Given the description of an element on the screen output the (x, y) to click on. 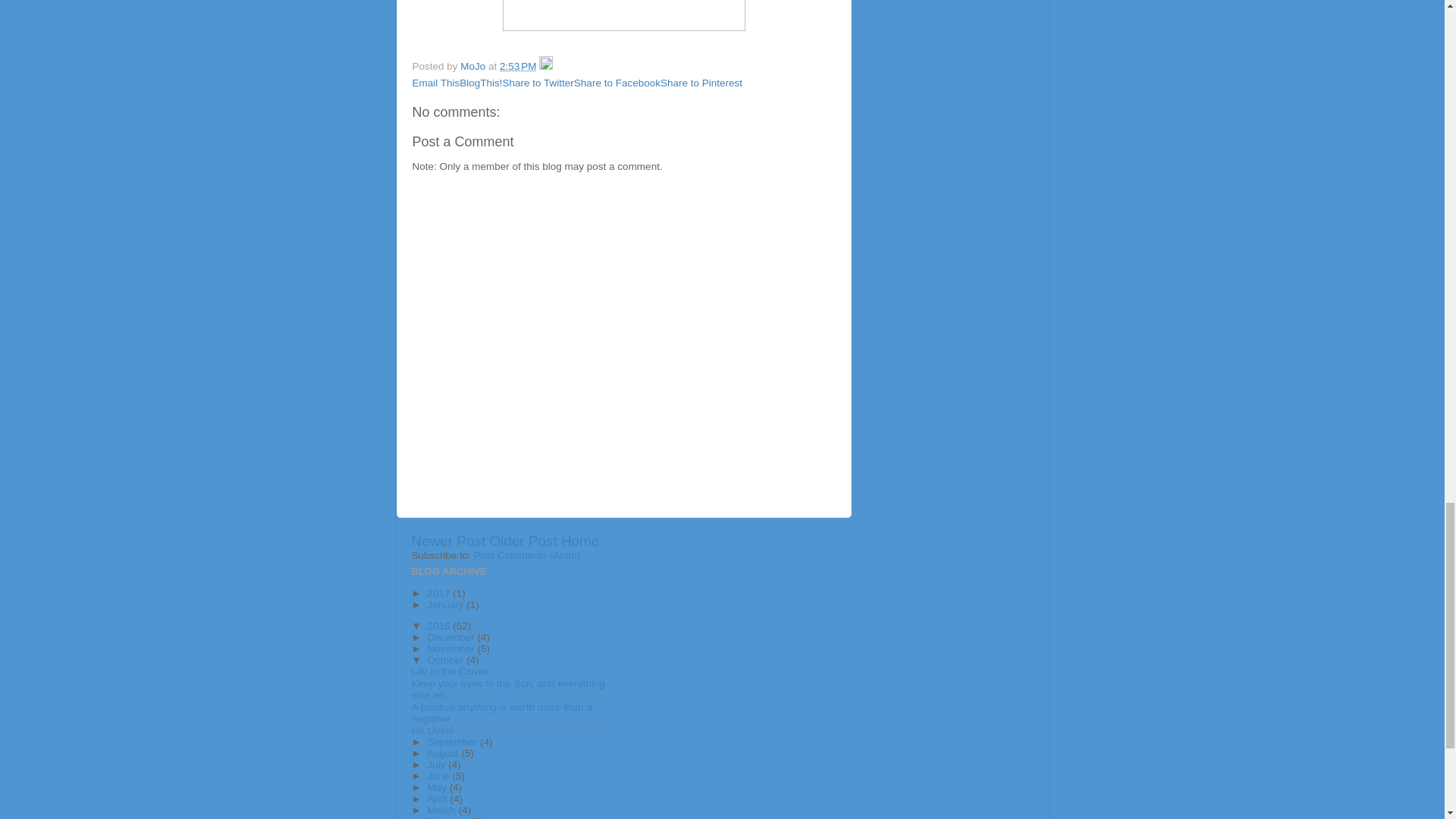
BlogThis! (481, 82)
A positive anything is worth more than a negative ... (501, 712)
Share to Twitter (537, 82)
Older Post (522, 540)
permanent link (517, 66)
January (445, 604)
December (451, 636)
MoJo (473, 66)
Share to Facebook (617, 82)
Newer Post (447, 540)
Home (579, 540)
October (445, 659)
September (453, 741)
Keep your eyes to the Son, and everything else wil... (507, 689)
He Lives! (431, 730)
